Given the description of an element on the screen output the (x, y) to click on. 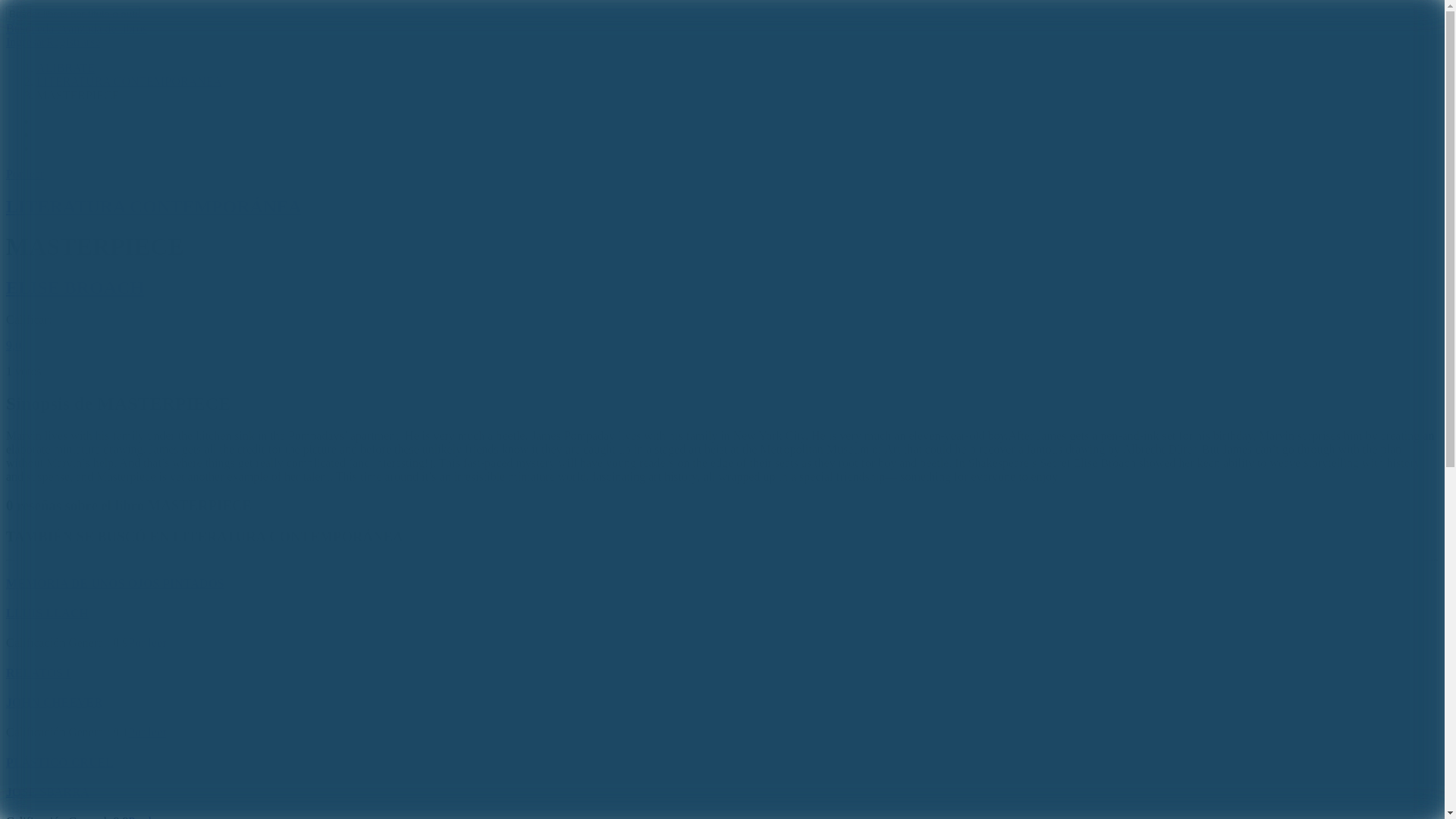
Por leer (146, 642)
Por leer (146, 816)
Por leer (146, 731)
Por leer (24, 173)
ALIBRATE (65, 67)
Ingresar (25, 42)
Registrarse (72, 42)
